Given the description of an element on the screen output the (x, y) to click on. 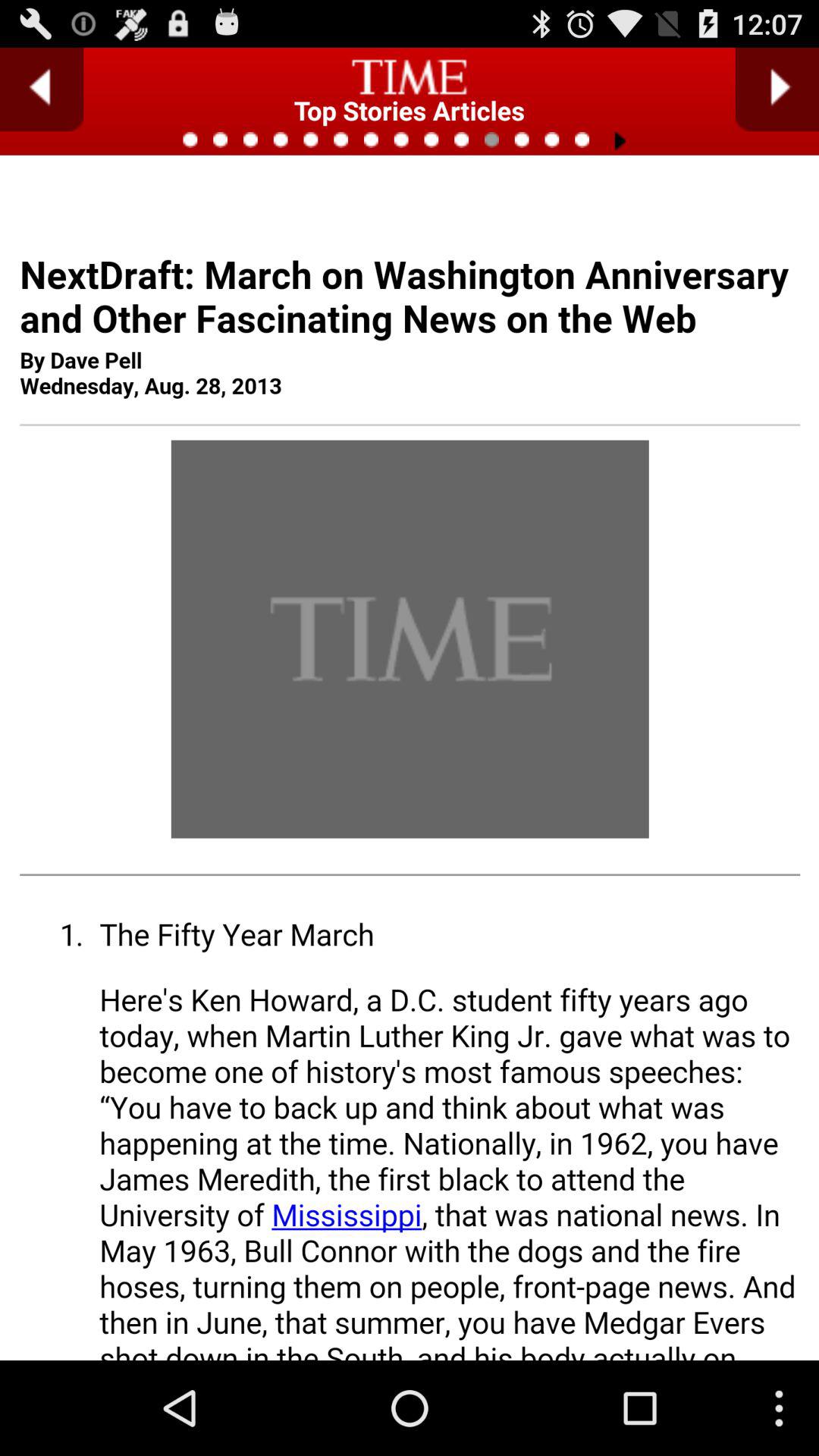
toggle next article (777, 89)
